Given the description of an element on the screen output the (x, y) to click on. 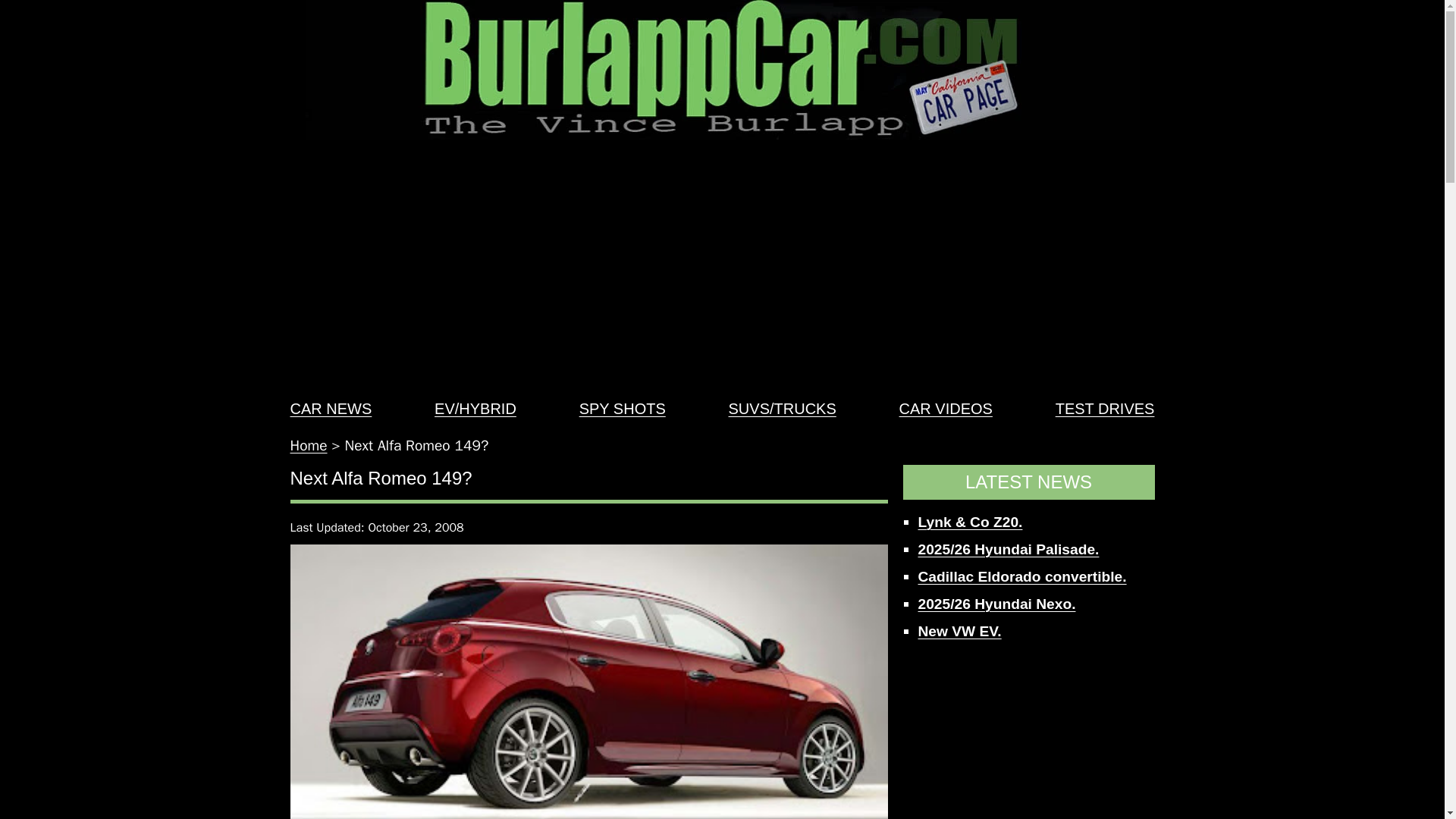
Advertisement (1028, 739)
CAR NEWS (330, 408)
New VW EV. (959, 631)
CAR VIDEOS (945, 408)
Cadillac Eldorado convertible. (1021, 576)
TEST DRIVES (1104, 408)
Cadillac Eldorado convertible. (1021, 576)
SPY SHOTS (622, 408)
New VW EV. (959, 631)
Home (307, 445)
